Given the description of an element on the screen output the (x, y) to click on. 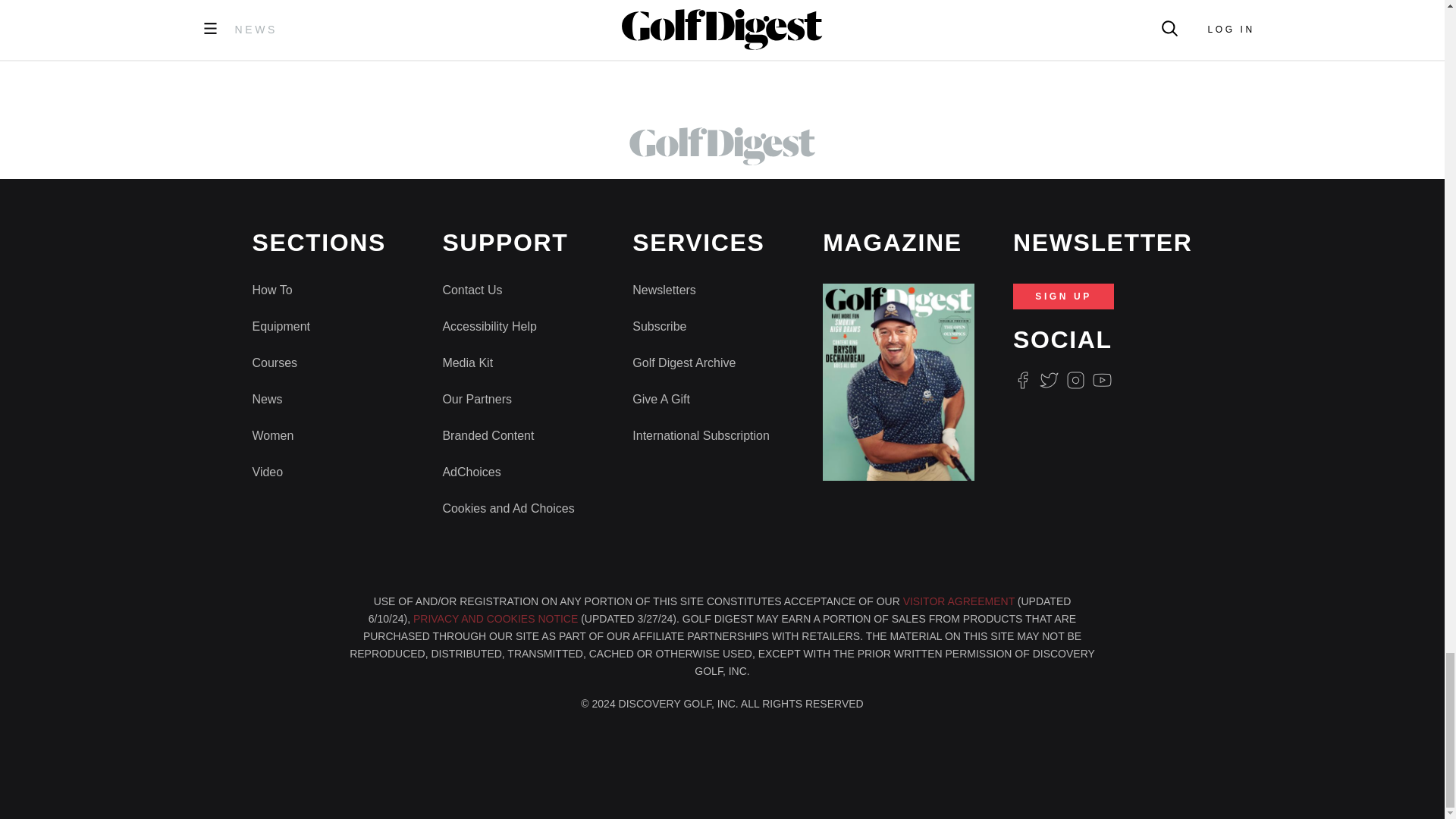
Facebook Logo (1022, 380)
Twitter Logo (1048, 380)
Instagram Logo (1074, 380)
Youtube Icon (1102, 380)
